Given the description of an element on the screen output the (x, y) to click on. 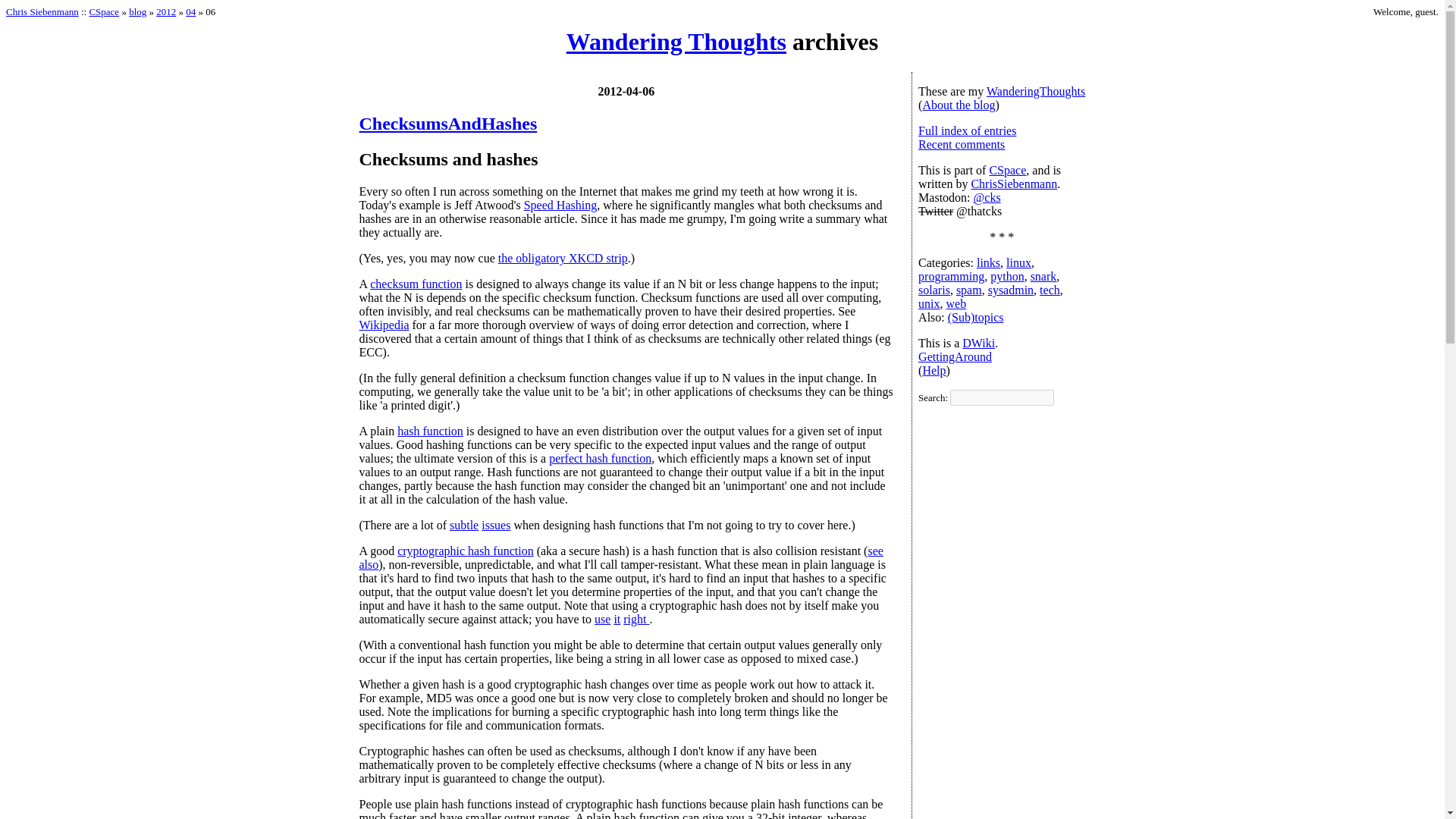
blog (138, 11)
Speed Hashing (560, 205)
Chris Siebenmann (41, 11)
issues (496, 524)
perfect hash function (599, 458)
see also (621, 557)
subtle (464, 524)
the obligatory XKCD strip (562, 257)
cryptographic hash function (465, 550)
right (636, 618)
